Given the description of an element on the screen output the (x, y) to click on. 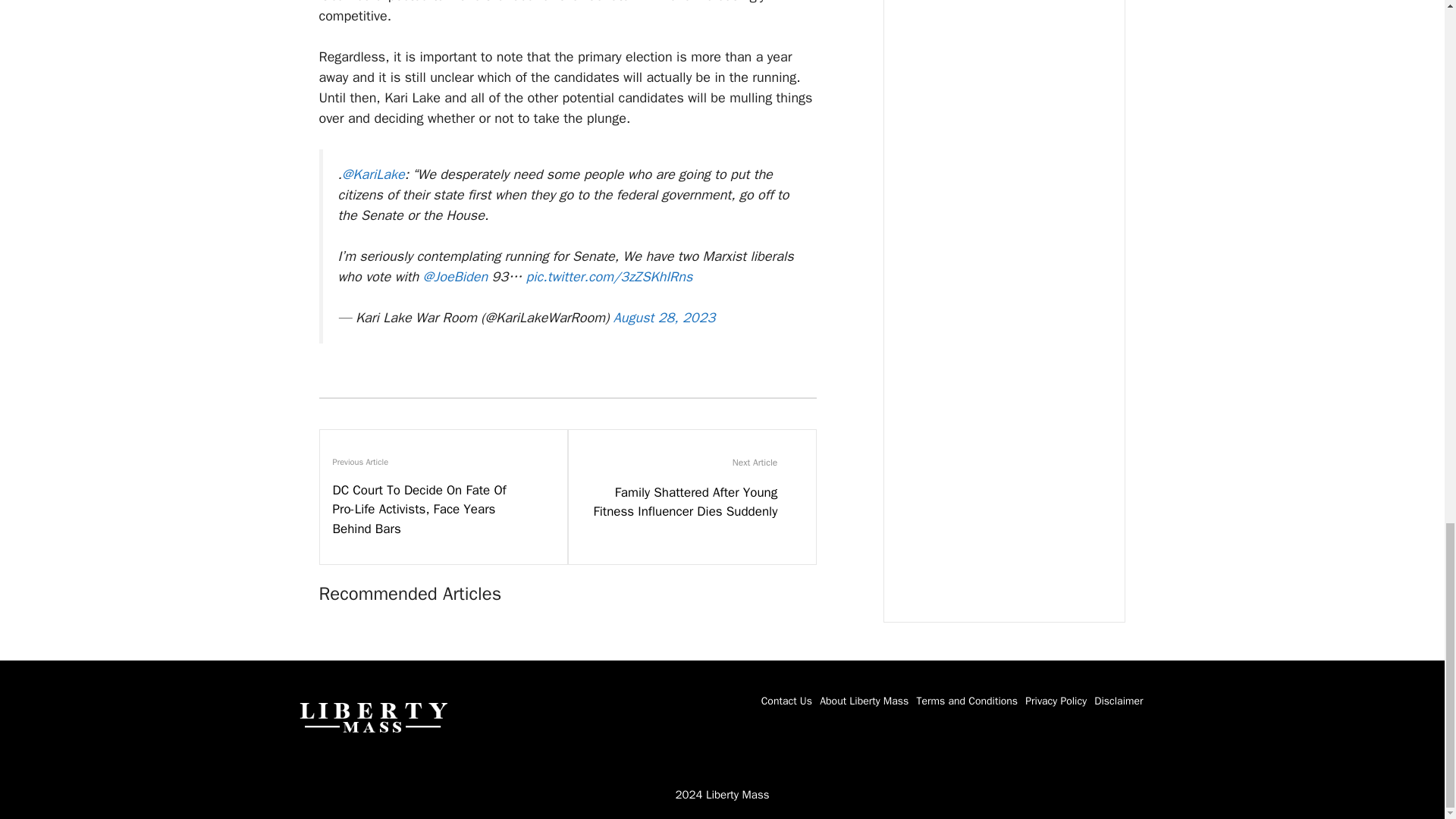
About Liberty Mass (863, 700)
August 28, 2023 (664, 317)
logowhite-min (372, 716)
Contact Us (786, 700)
Privacy Policy (1055, 700)
Disclaimer (1118, 700)
Terms and Conditions (966, 700)
